Given the description of an element on the screen output the (x, y) to click on. 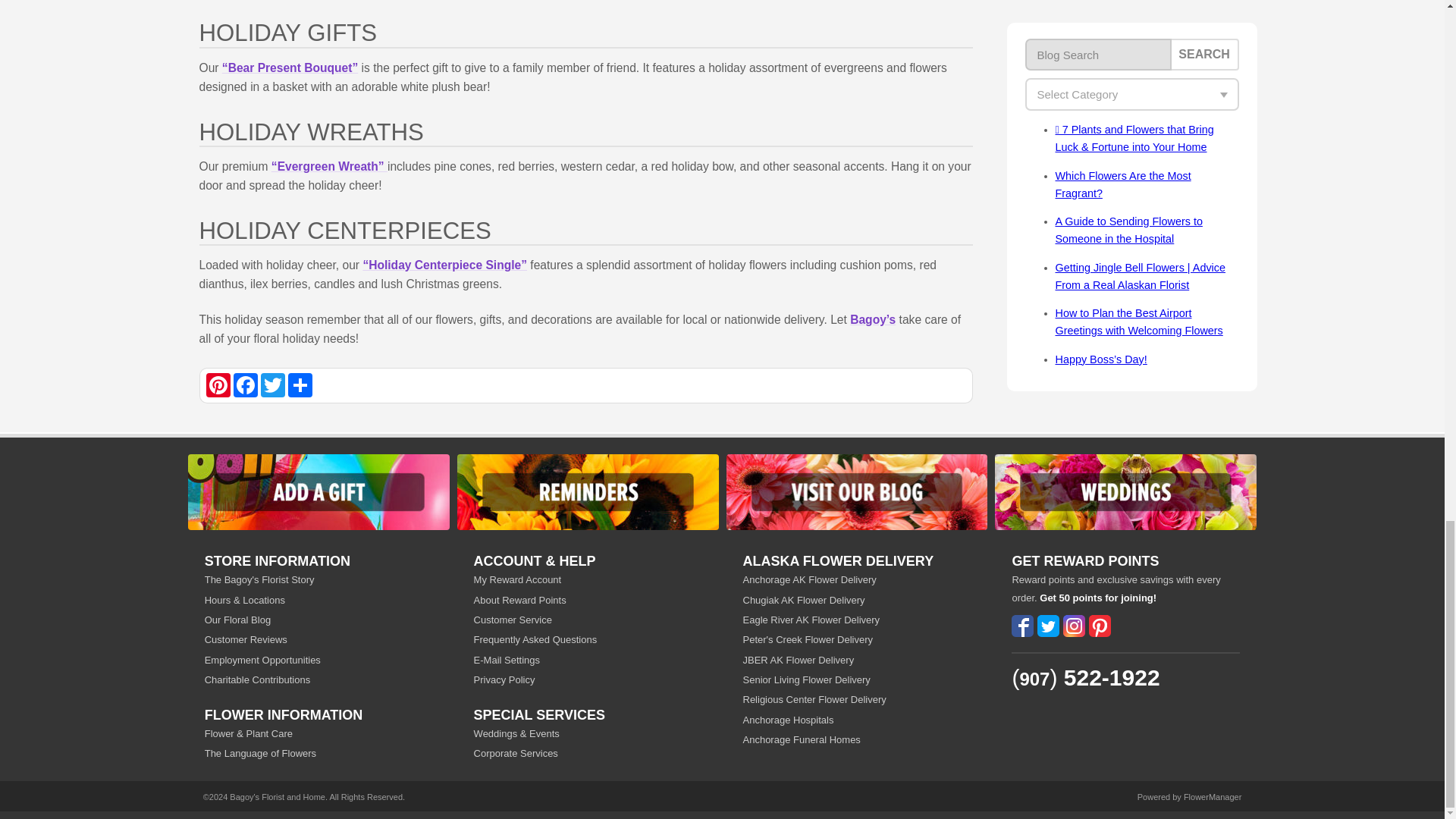
Facebook (245, 385)
Pinterest (218, 385)
Facebook (245, 385)
Twitter (272, 385)
Twitter (272, 385)
Pinterest (218, 385)
Share (300, 385)
